Given the description of an element on the screen output the (x, y) to click on. 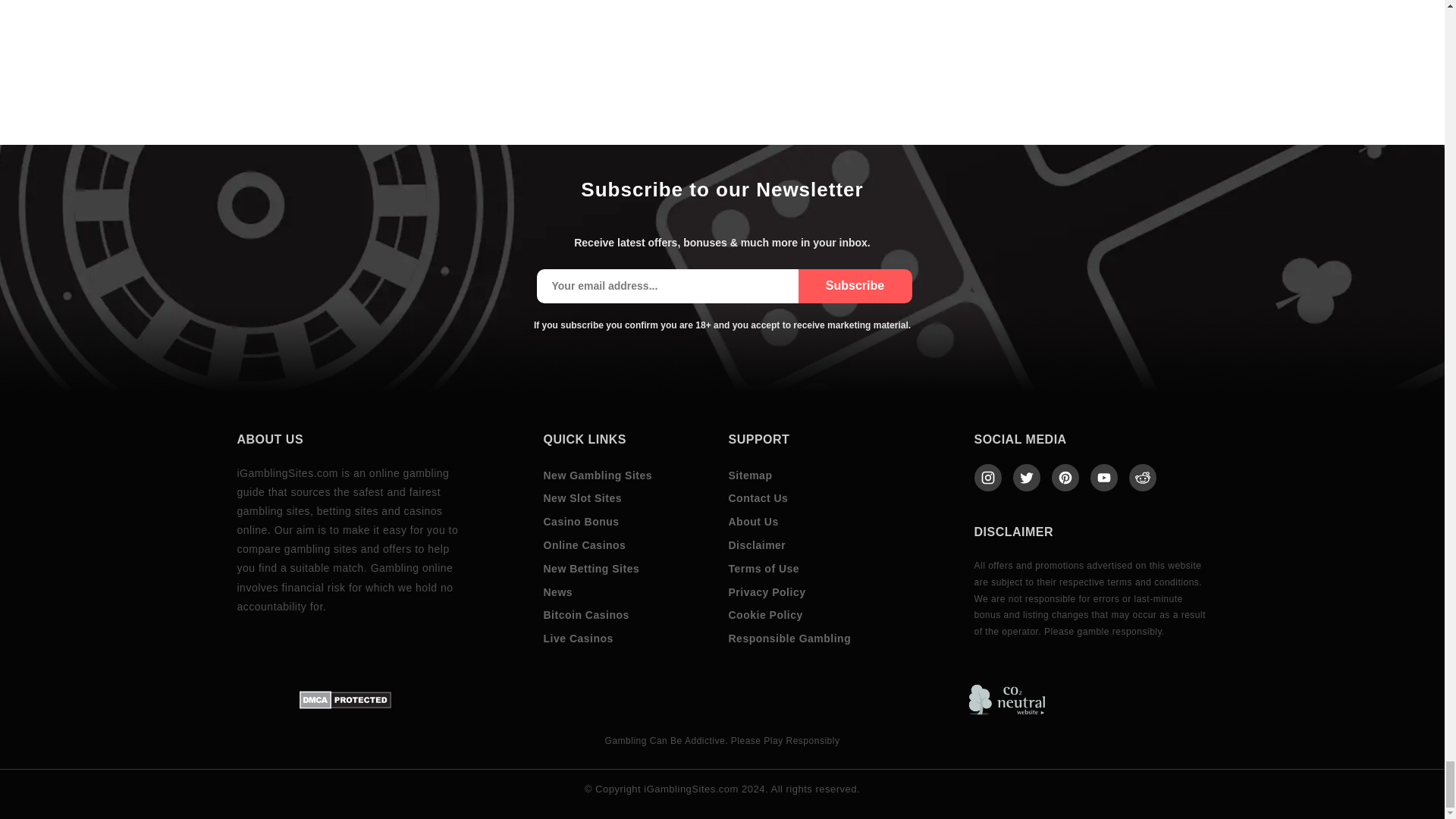
Customer reviews powered by Trustpilot (1106, 699)
Subscribe (854, 286)
DMCA.com Protection Status (345, 700)
